Given the description of an element on the screen output the (x, y) to click on. 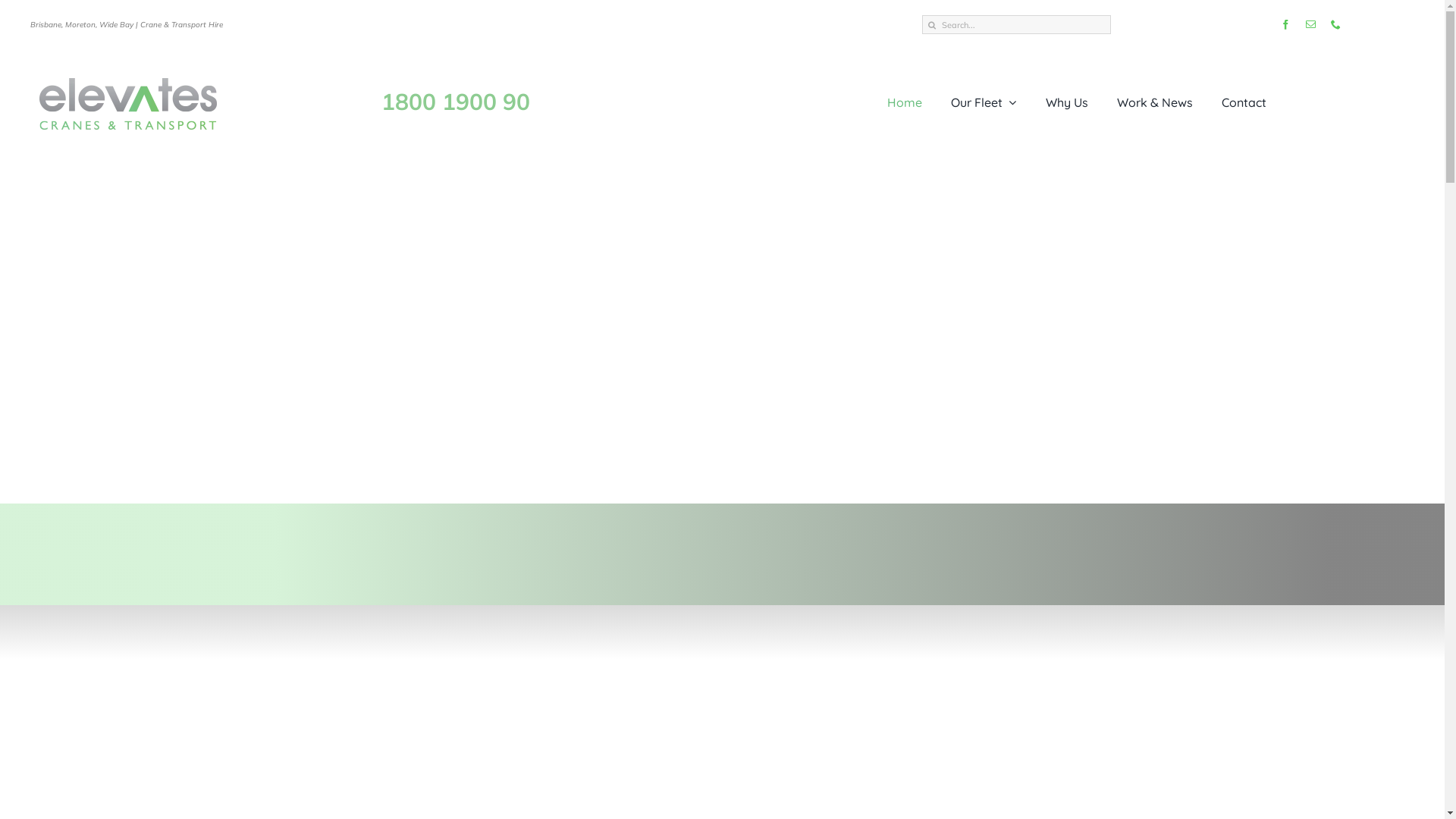
Our Fleet Element type: text (983, 101)
Contact Element type: text (1244, 101)
Phone Element type: hover (1335, 24)
Home Element type: text (904, 101)
Email Element type: hover (1310, 24)
Why Us Element type: text (1066, 101)
Work & News Element type: text (1154, 101)
Facebook Element type: hover (1285, 24)
